Given the description of an element on the screen output the (x, y) to click on. 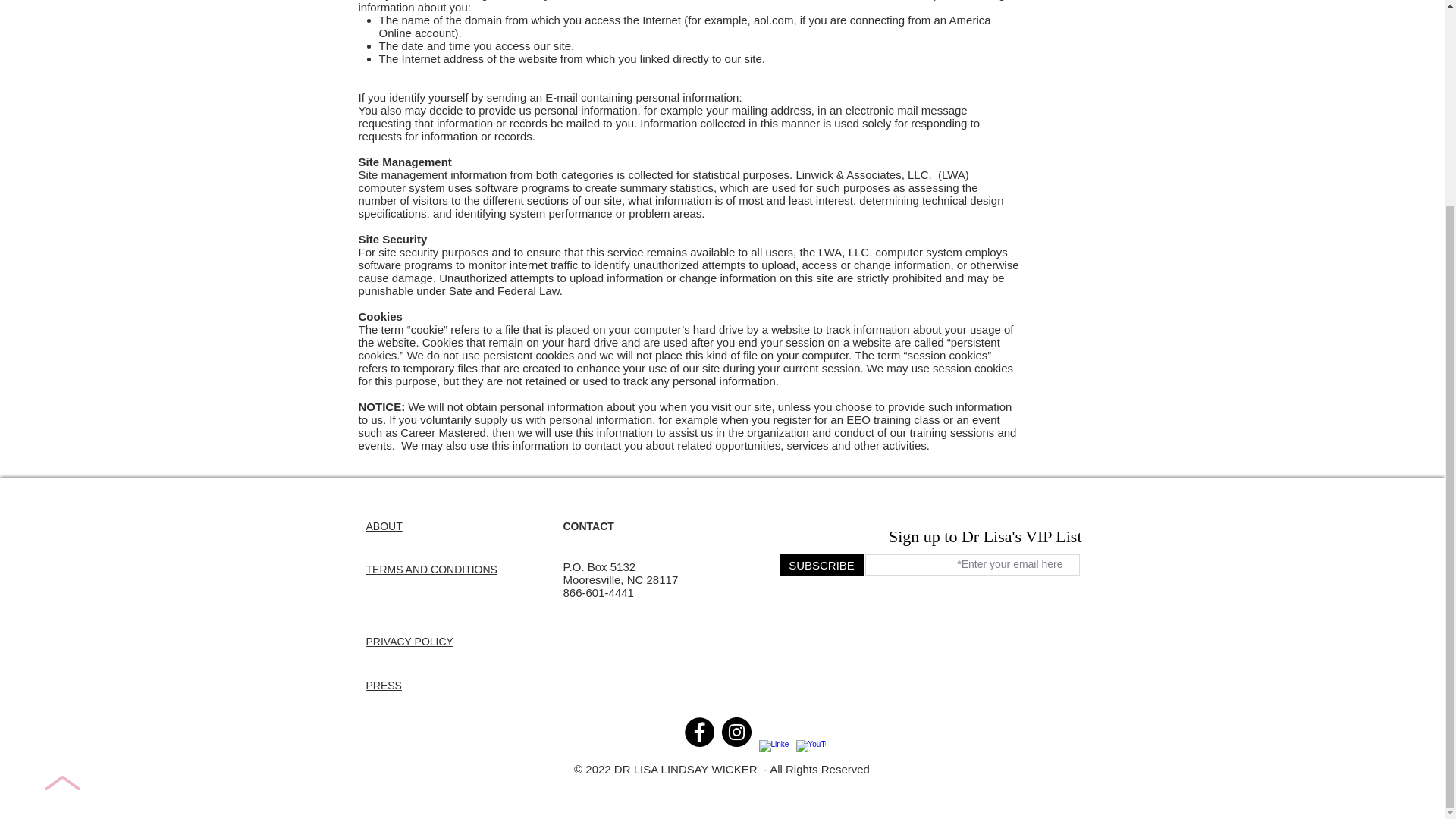
PRESS (383, 685)
PRIVACY POLICY (408, 641)
SUBSCRIBE (820, 564)
TERMS AND CONDITIONS (430, 569)
ABOUT (383, 526)
866-601-4441 (597, 592)
